Given the description of an element on the screen output the (x, y) to click on. 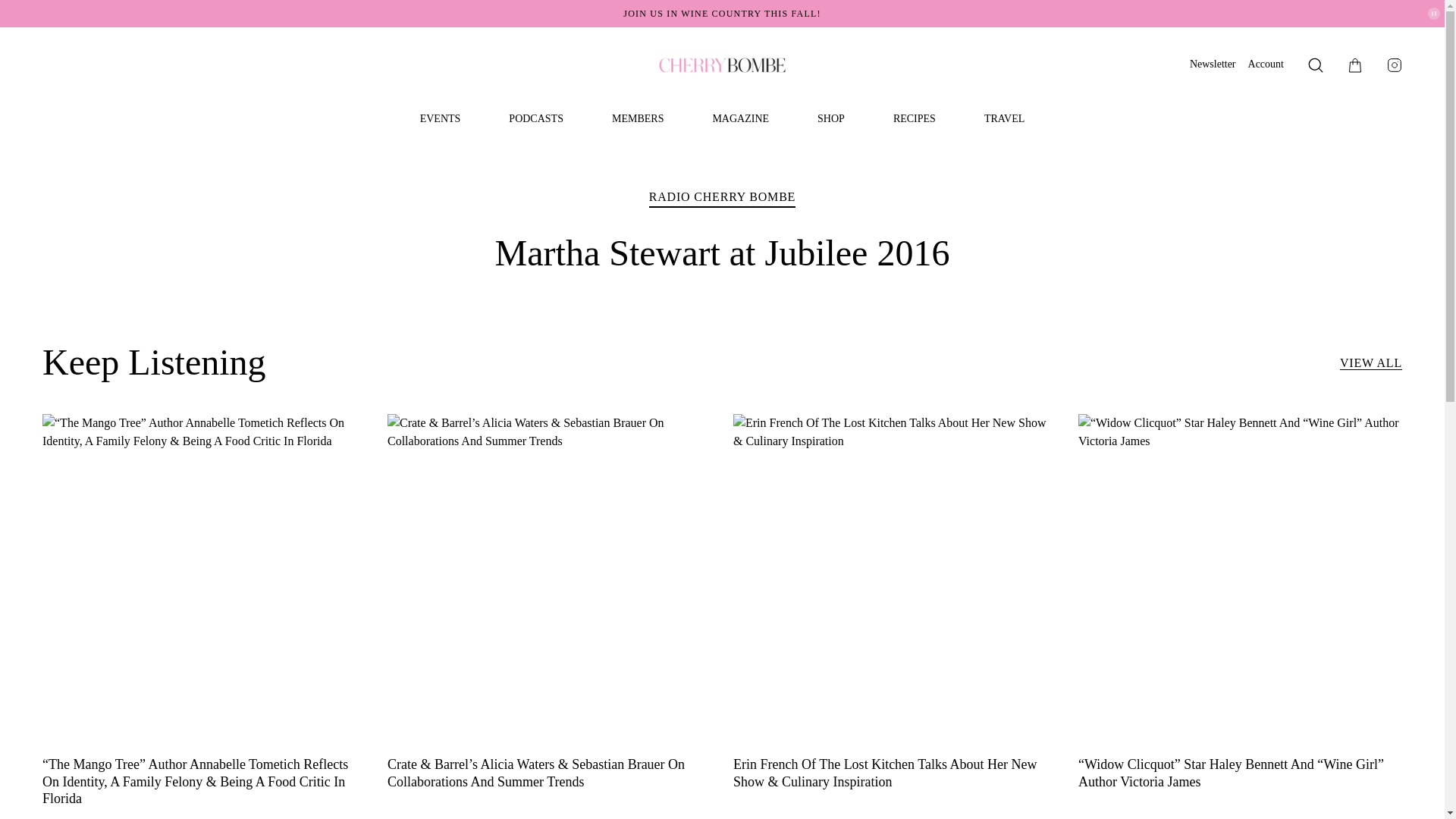
SHOP (830, 119)
Account (1265, 64)
PODCASTS (535, 119)
MAGAZINE (739, 119)
TRAVEL (1004, 119)
MEMBERS (637, 119)
Search (1315, 64)
JOIN US IN WINE COUNTRY THIS FALL! (722, 13)
EVENTS (440, 119)
Newsletter (1212, 64)
